Given the description of an element on the screen output the (x, y) to click on. 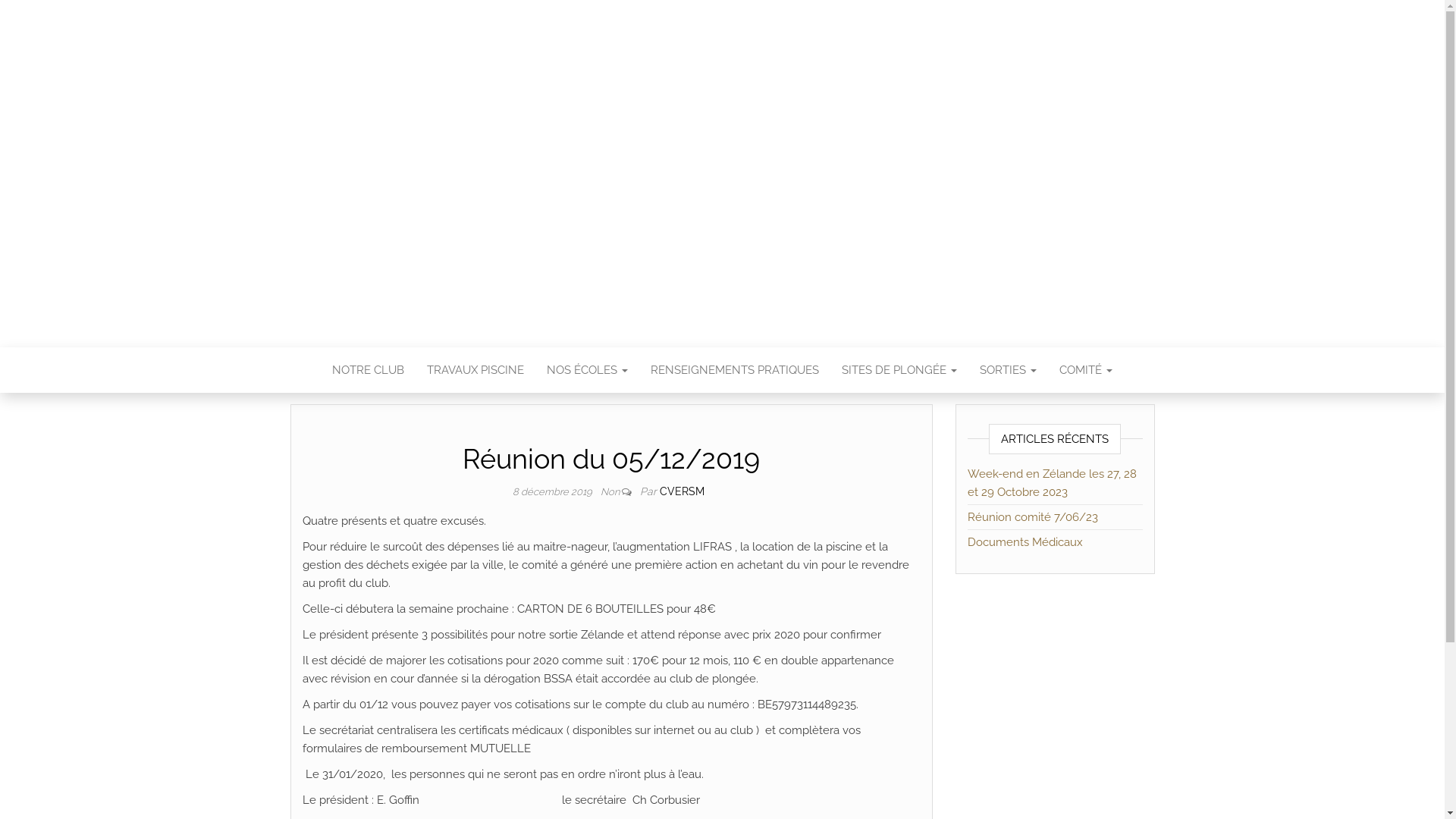
C.V.E.R.S.M. Element type: text (722, 162)
CVERSM Element type: text (681, 491)
NOTRE CLUB Element type: text (367, 369)
RENSEIGNEMENTS PRATIQUES Element type: text (734, 369)
TRAVAUX PISCINE Element type: text (475, 369)
SORTIES Element type: text (1008, 369)
